Given the description of an element on the screen output the (x, y) to click on. 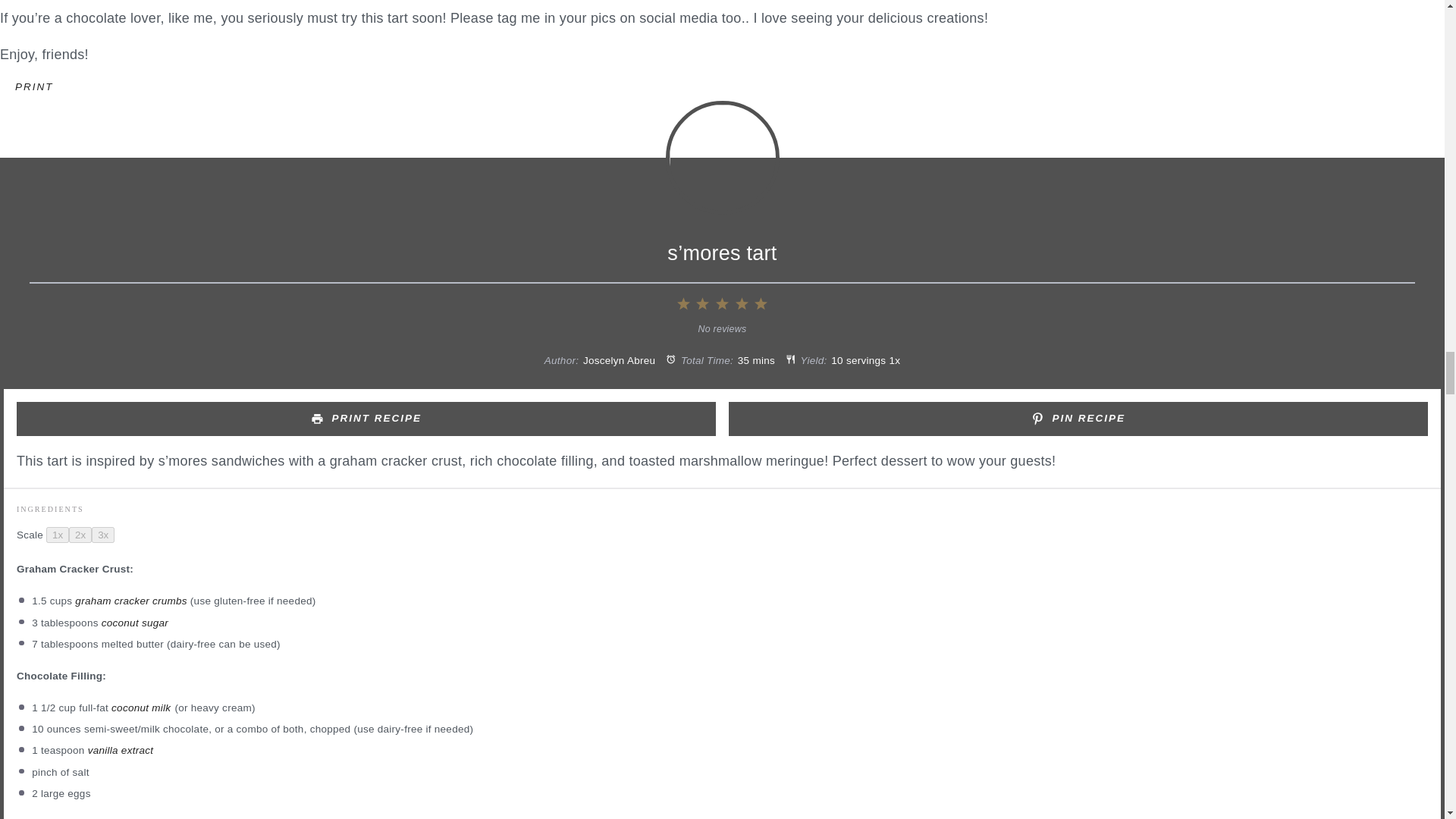
PRINT RECIPE (366, 419)
3x (103, 534)
PRINT (34, 86)
coconut milk (141, 707)
graham cracker crumbs (130, 600)
2x (79, 534)
vanilla extract (120, 749)
1x (57, 534)
PIN RECIPE (1078, 419)
coconut sugar (134, 622)
